Given the description of an element on the screen output the (x, y) to click on. 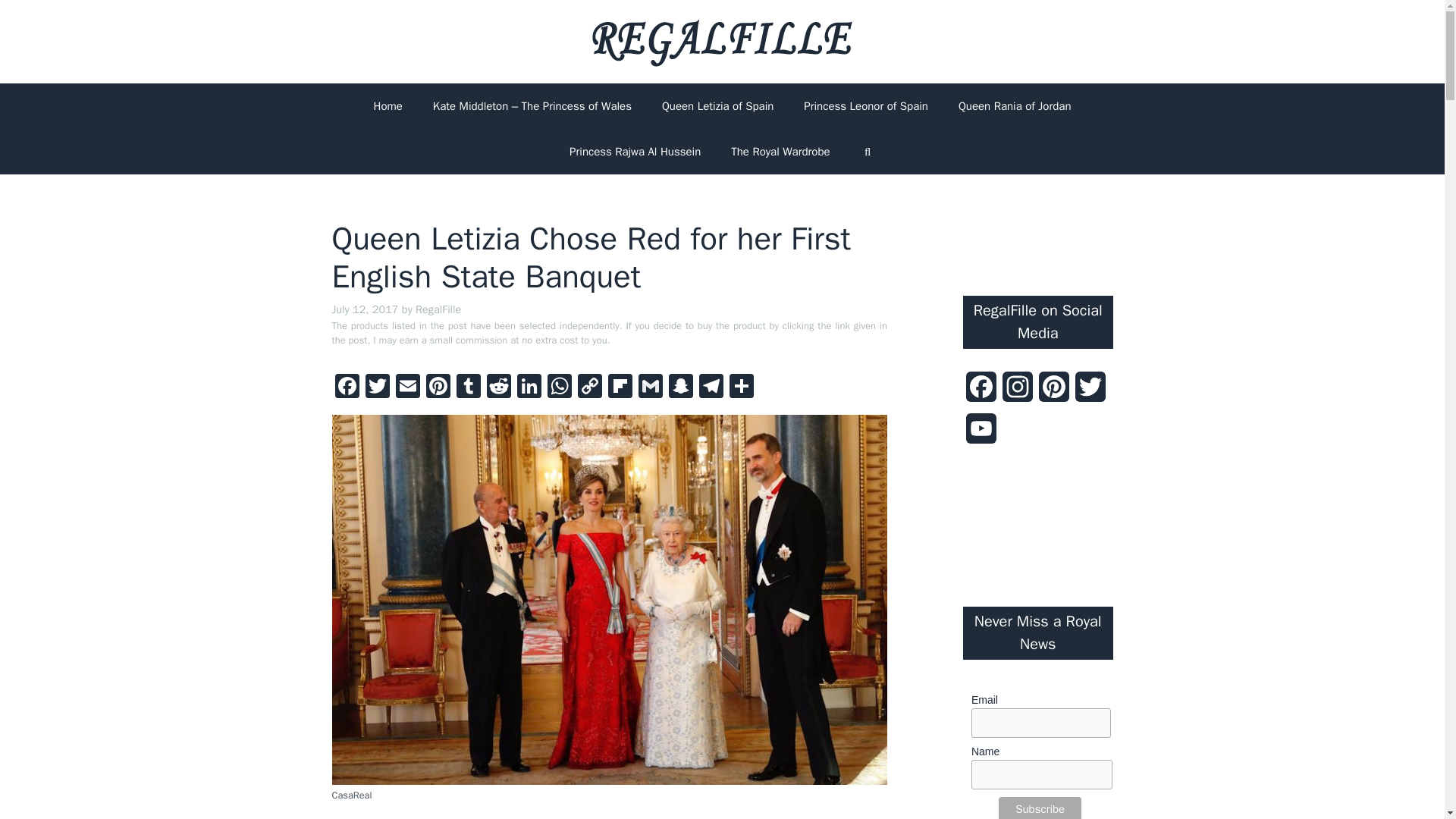
Princess Rajwa Al Hussein (635, 151)
Princess Leonor of Spain (866, 105)
Snapchat (680, 387)
LinkedIn (528, 387)
Copy Link (590, 387)
Gmail (649, 387)
Flipboard (619, 387)
Subscribe (1039, 807)
Flipboard (619, 387)
Copy Link (590, 387)
Tumblr (467, 387)
Facebook (346, 387)
Home (387, 105)
View all posts by RegalFille (437, 309)
Facebook (346, 387)
